Given the description of an element on the screen output the (x, y) to click on. 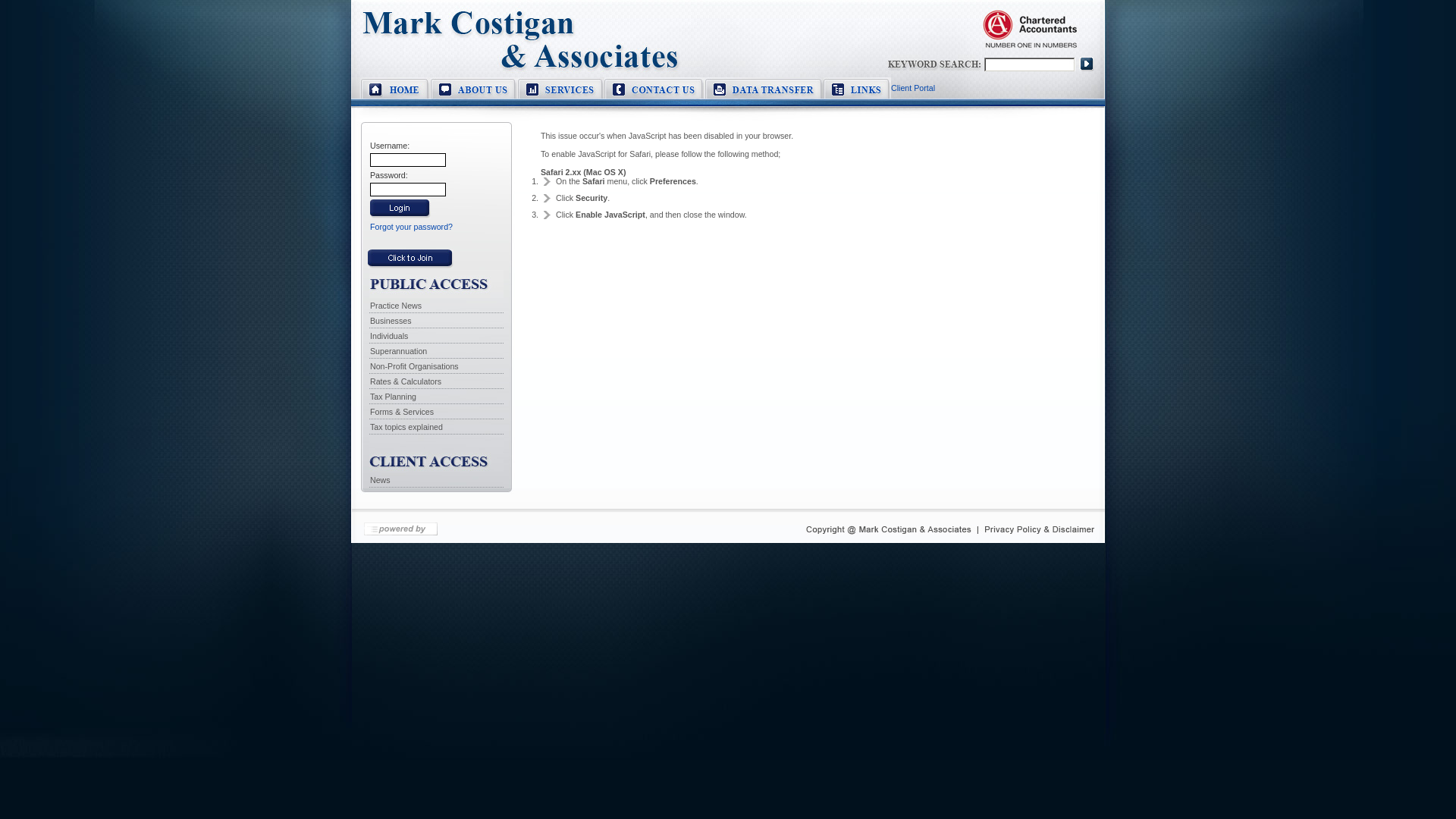
Links Element type: hover (857, 95)
Rates & Calculators Element type: text (405, 380)
Data Transfer Element type: hover (764, 95)
Client Portal Element type: text (727, 60)
Businesses Element type: text (390, 320)
About Mark Costigan & Associates Element type: hover (473, 95)
Tax Planning Element type: text (393, 396)
Practice News Element type: text (395, 305)
Superannuation Element type: text (398, 350)
News Element type: text (380, 479)
Tax topics explained Element type: text (406, 426)
Home Element type: hover (390, 95)
Services Element type: hover (560, 95)
Client Portal Element type: text (913, 87)
Forgot your password? Element type: text (411, 226)
Forms & Services Element type: text (401, 411)
Non-Profit Organisations Element type: text (414, 365)
Contact Us Element type: hover (654, 95)
Individuals Element type: text (388, 335)
